Given the description of an element on the screen output the (x, y) to click on. 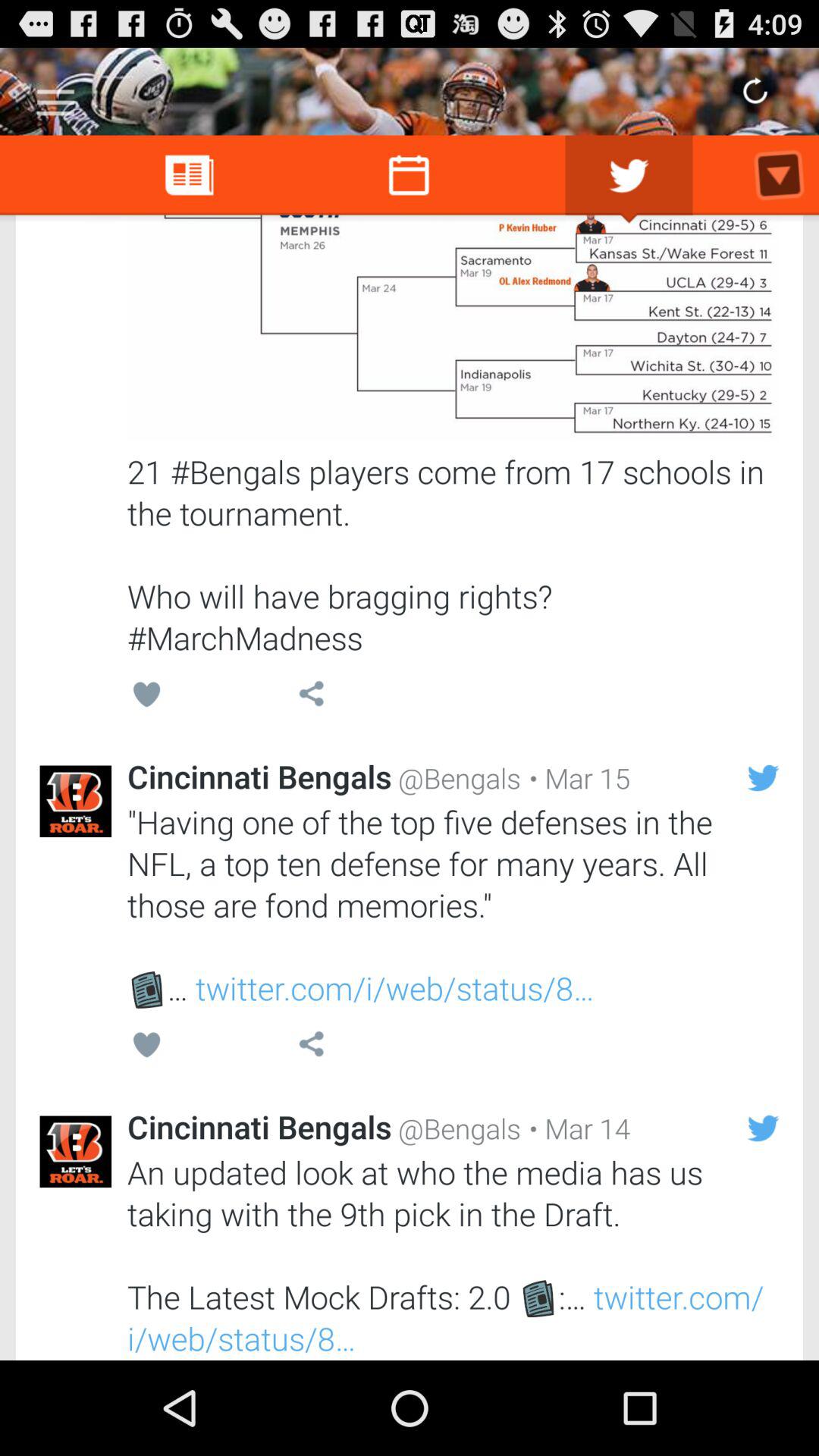
turn off icon next to the @bengals item (575, 777)
